Given the description of an element on the screen output the (x, y) to click on. 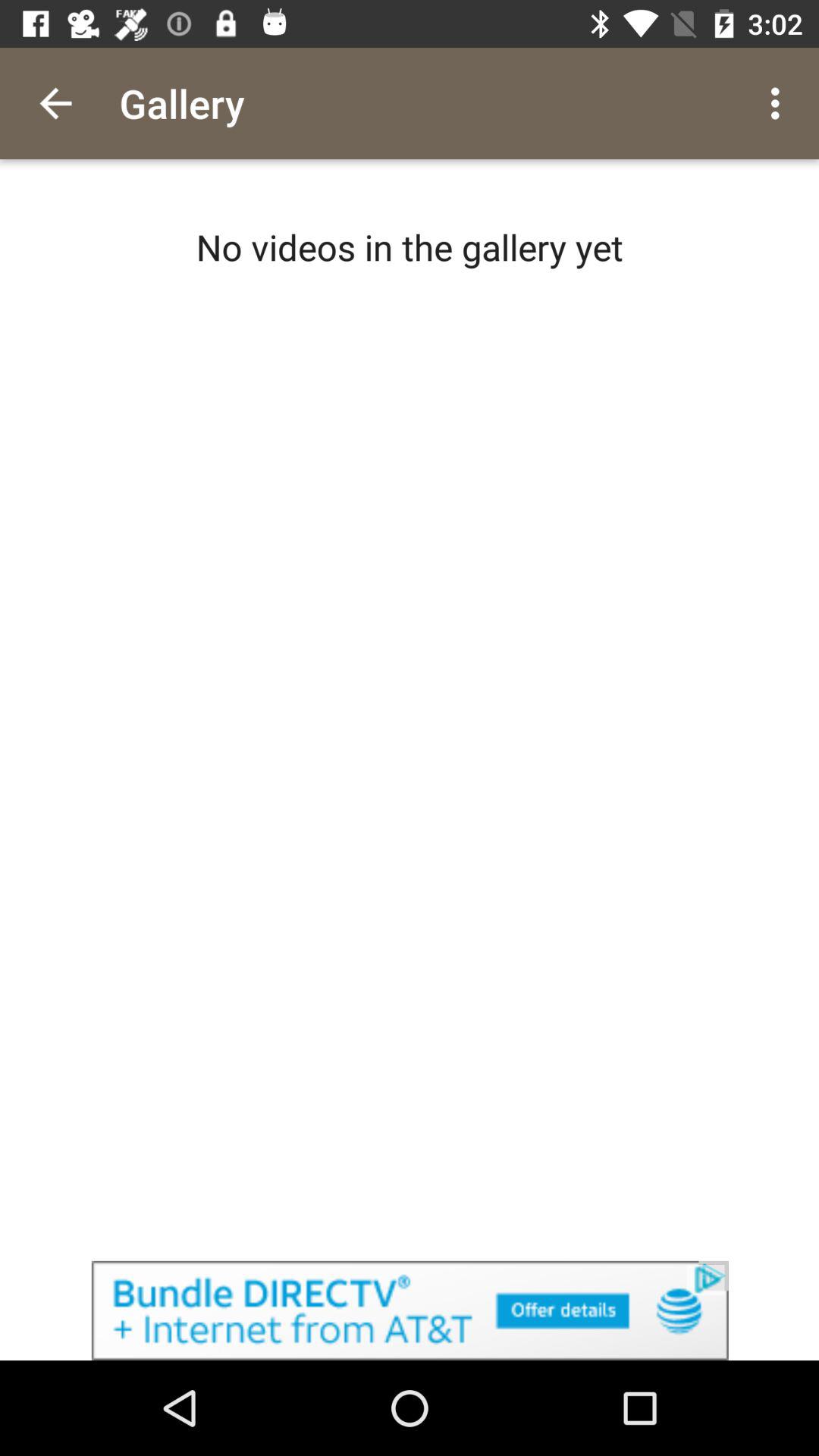
advertisement that redirects you to att to see offer (409, 1310)
